Given the description of an element on the screen output the (x, y) to click on. 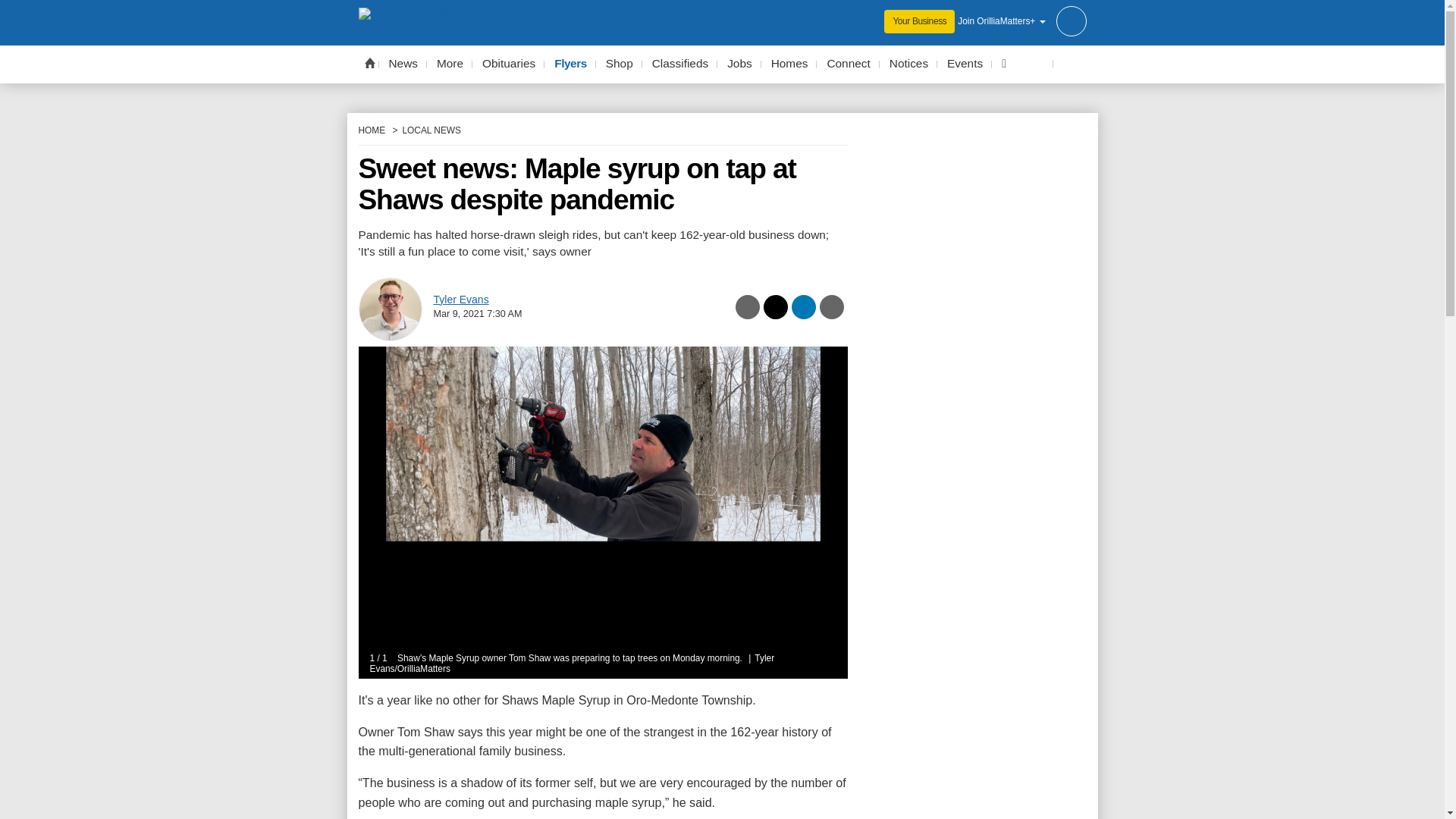
Your Business (919, 21)
Home (368, 62)
News (403, 64)
